Given the description of an element on the screen output the (x, y) to click on. 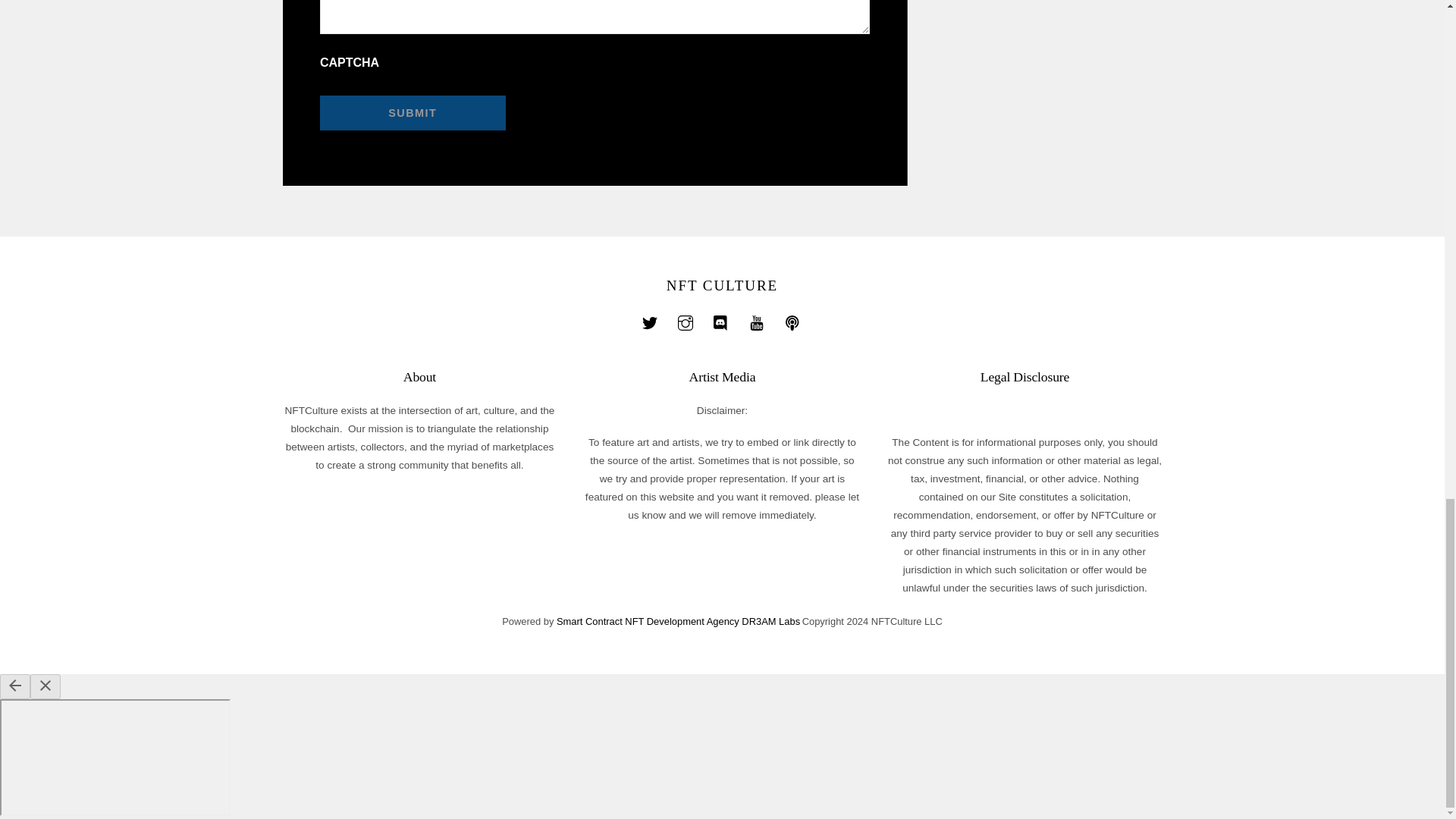
Submit (412, 112)
NFT CULTURE (721, 285)
Submit (412, 112)
